Given the description of an element on the screen output the (x, y) to click on. 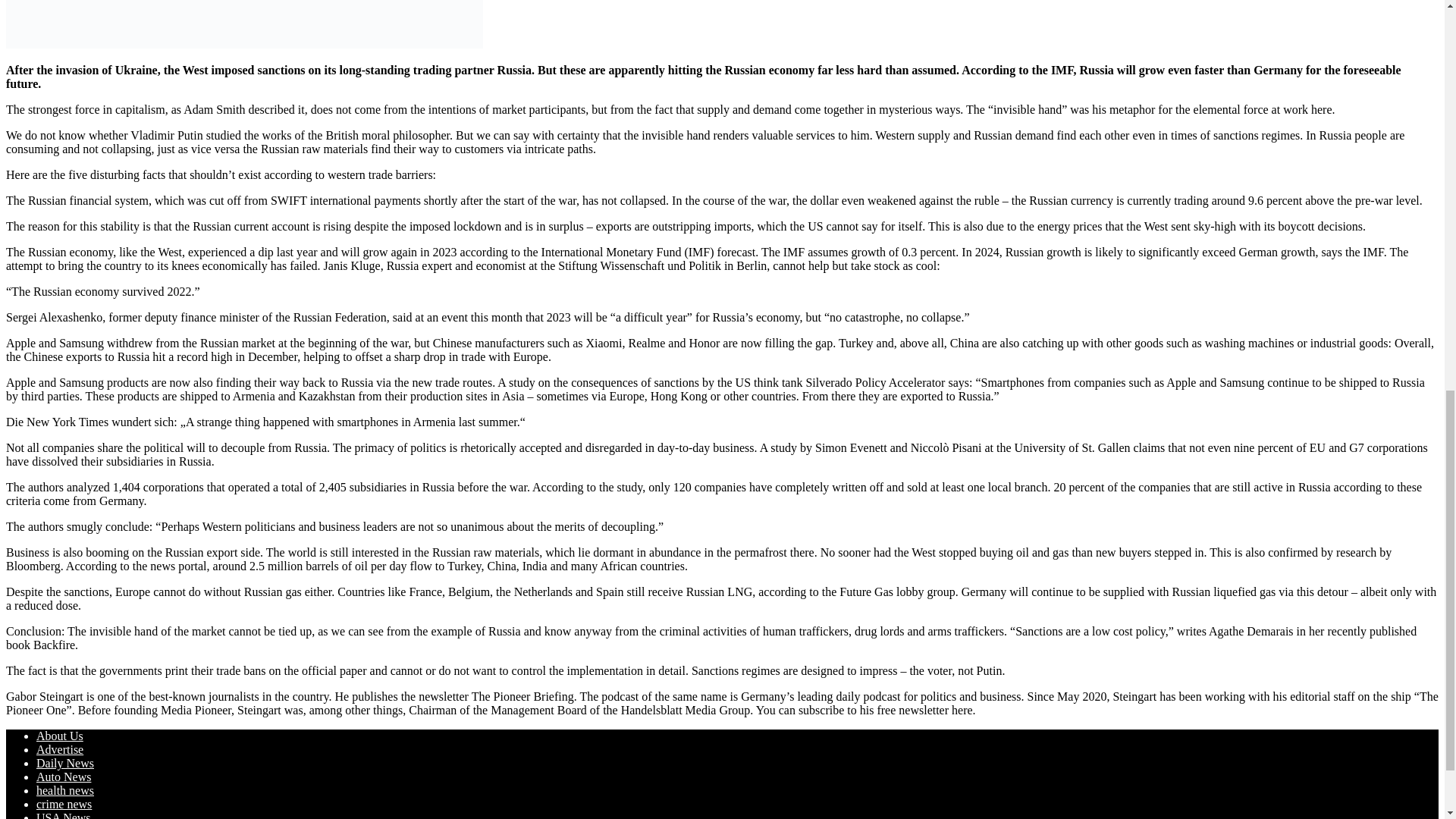
Daily News (65, 762)
USA News (63, 815)
Advertise (59, 748)
About Us (59, 735)
crime news (63, 803)
Auto News (63, 776)
health news (65, 789)
resim-6 (244, 24)
